Given the description of an element on the screen output the (x, y) to click on. 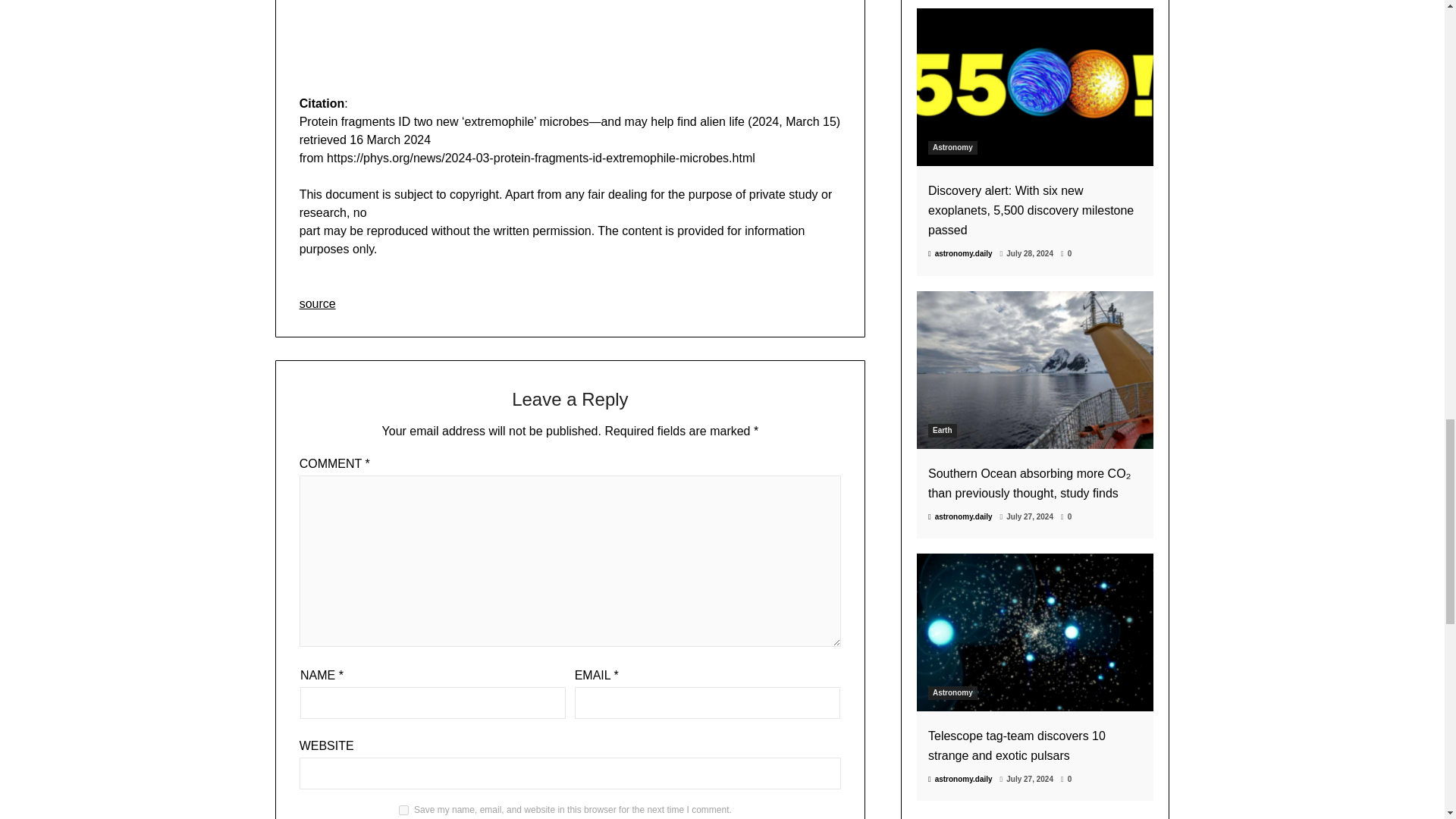
source (317, 303)
yes (403, 809)
